Given the description of an element on the screen output the (x, y) to click on. 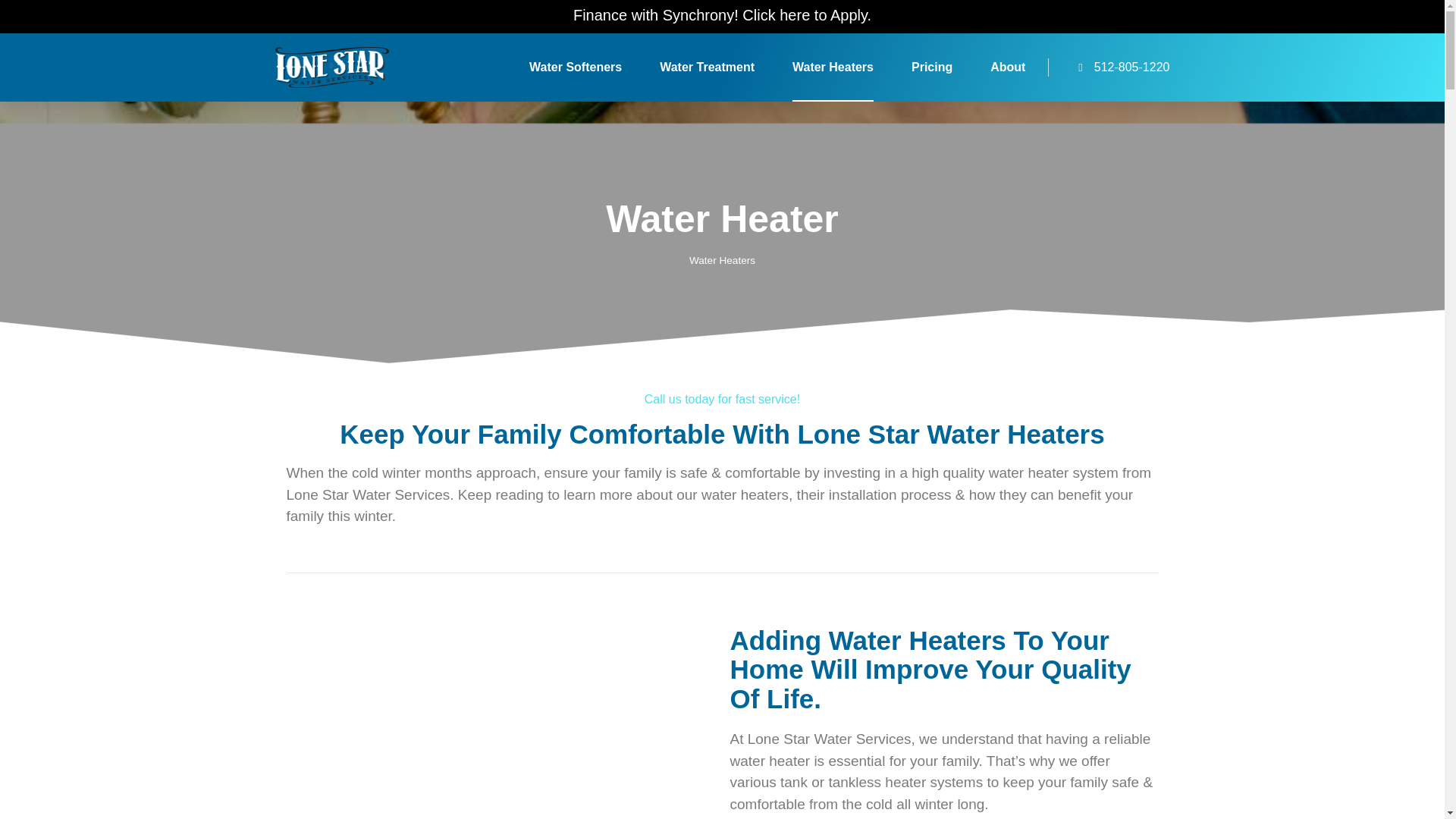
Water Treatment (706, 67)
Water Softeners (575, 67)
Finance with Synchrony! Click here to Apply. (721, 14)
Water Heaters (832, 67)
